Given the description of an element on the screen output the (x, y) to click on. 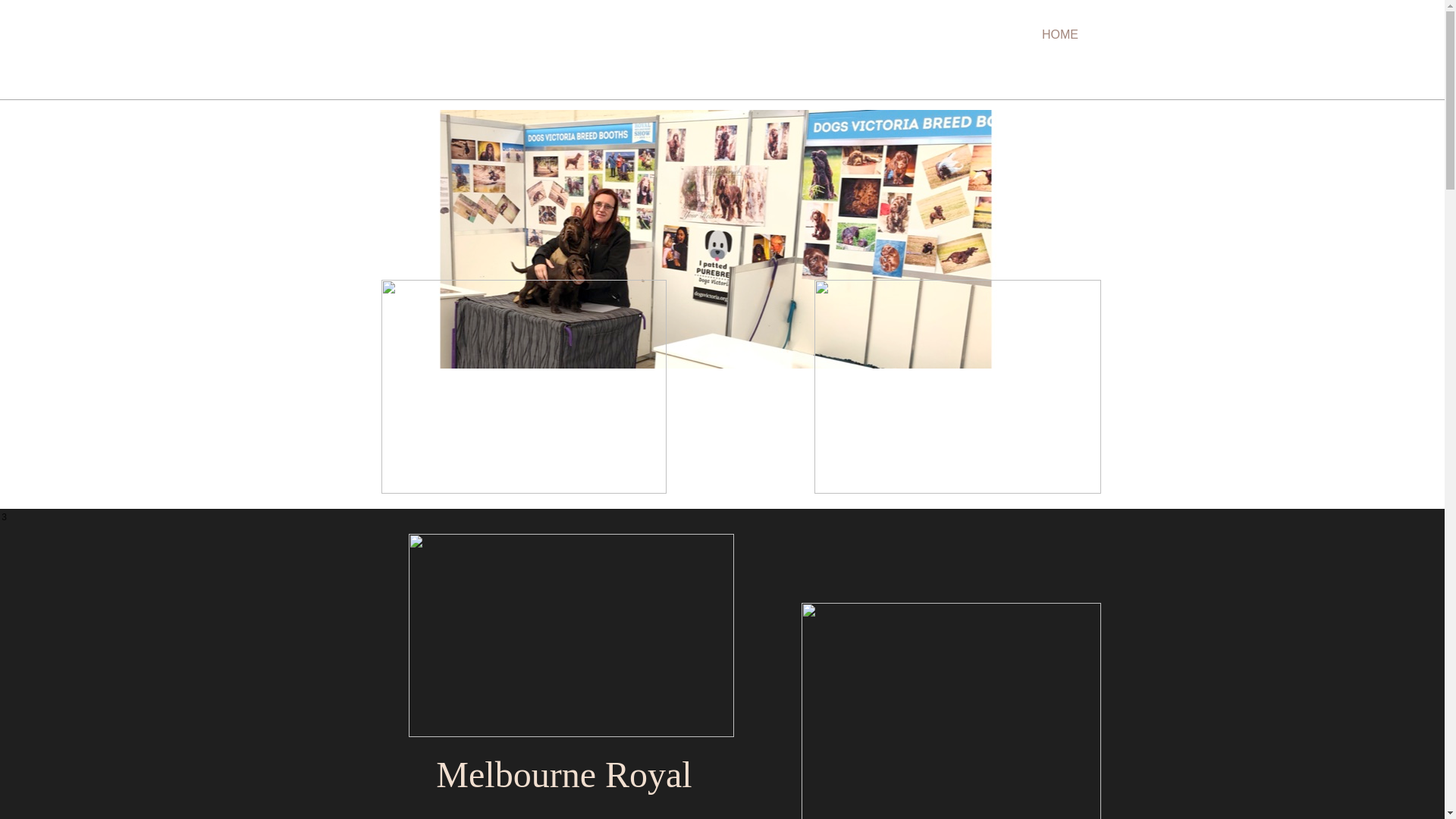
HOME Element type: text (1059, 34)
